Given the description of an element on the screen output the (x, y) to click on. 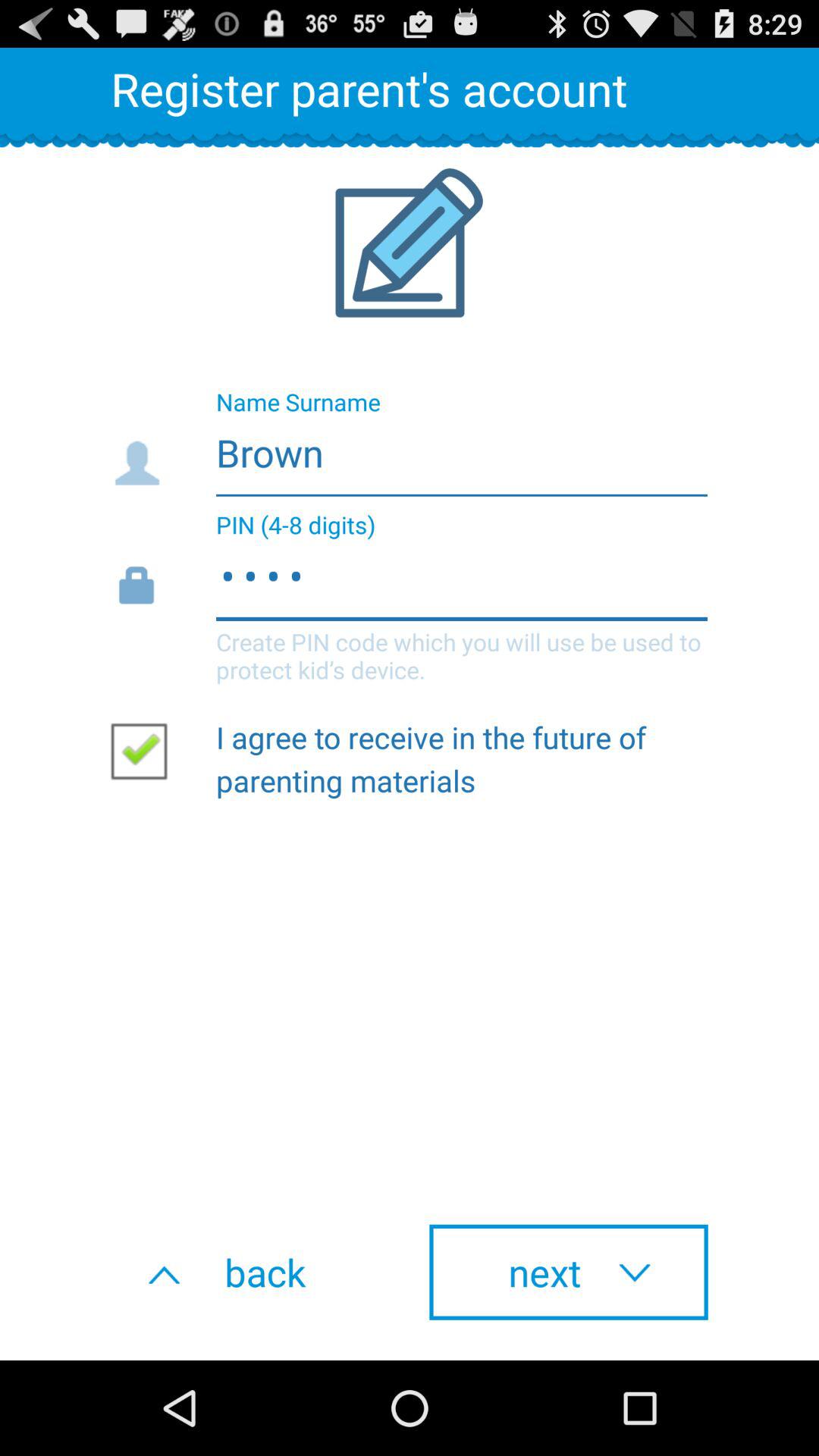
turn off brown icon (408, 448)
